Given the description of an element on the screen output the (x, y) to click on. 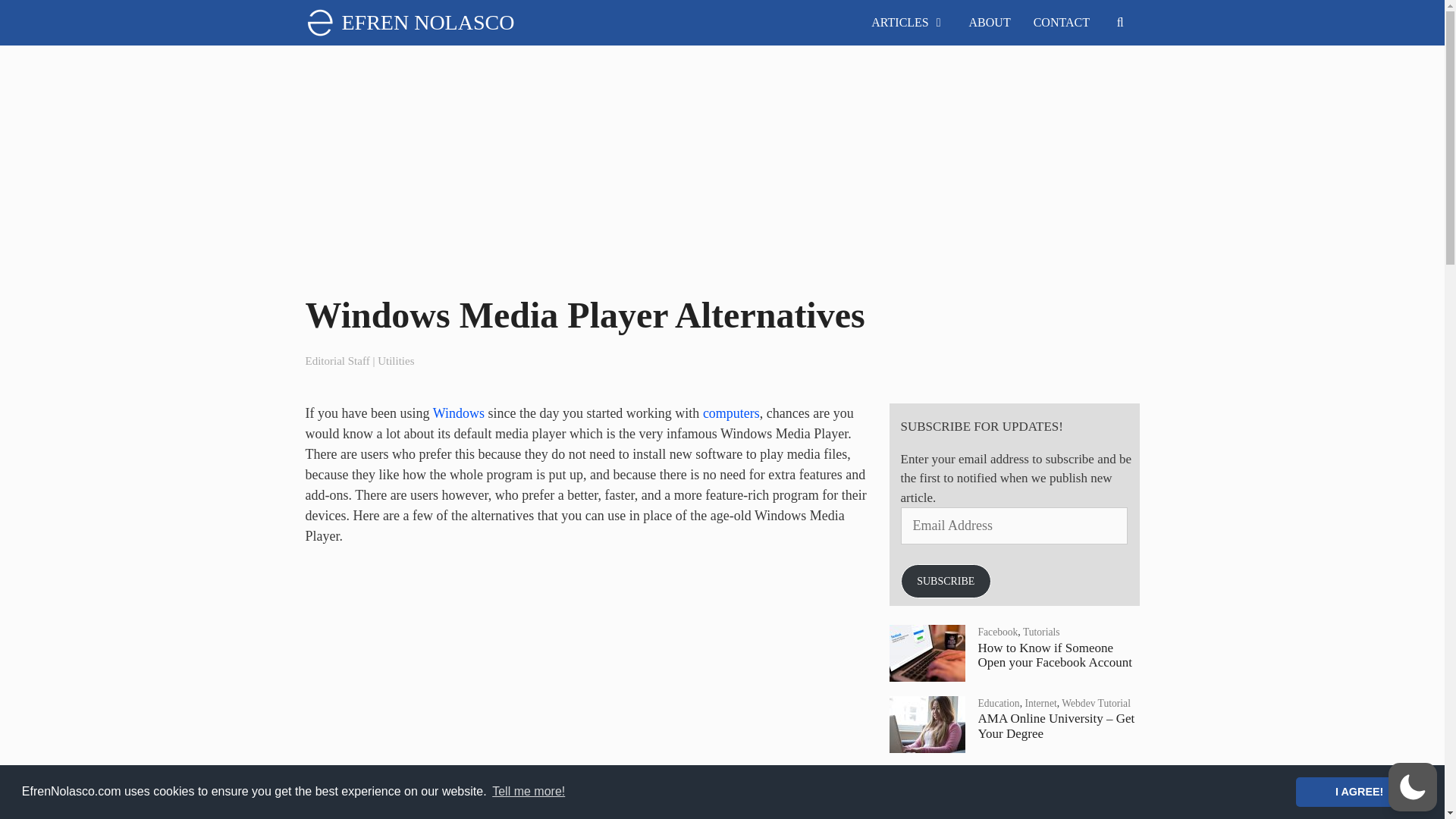
CONTACT (1061, 22)
Editorial Staff (336, 360)
View all posts by Editorial Staff (336, 360)
Efren Nolasco (318, 22)
Efren Nolasco (322, 22)
Utilities (395, 360)
ARTICLES (908, 22)
Tell me more! (528, 791)
computers (731, 412)
ABOUT (990, 22)
I AGREE! (1358, 791)
Advertisement (586, 673)
Windows (458, 412)
EFREN NOLASCO (426, 22)
